Given the description of an element on the screen output the (x, y) to click on. 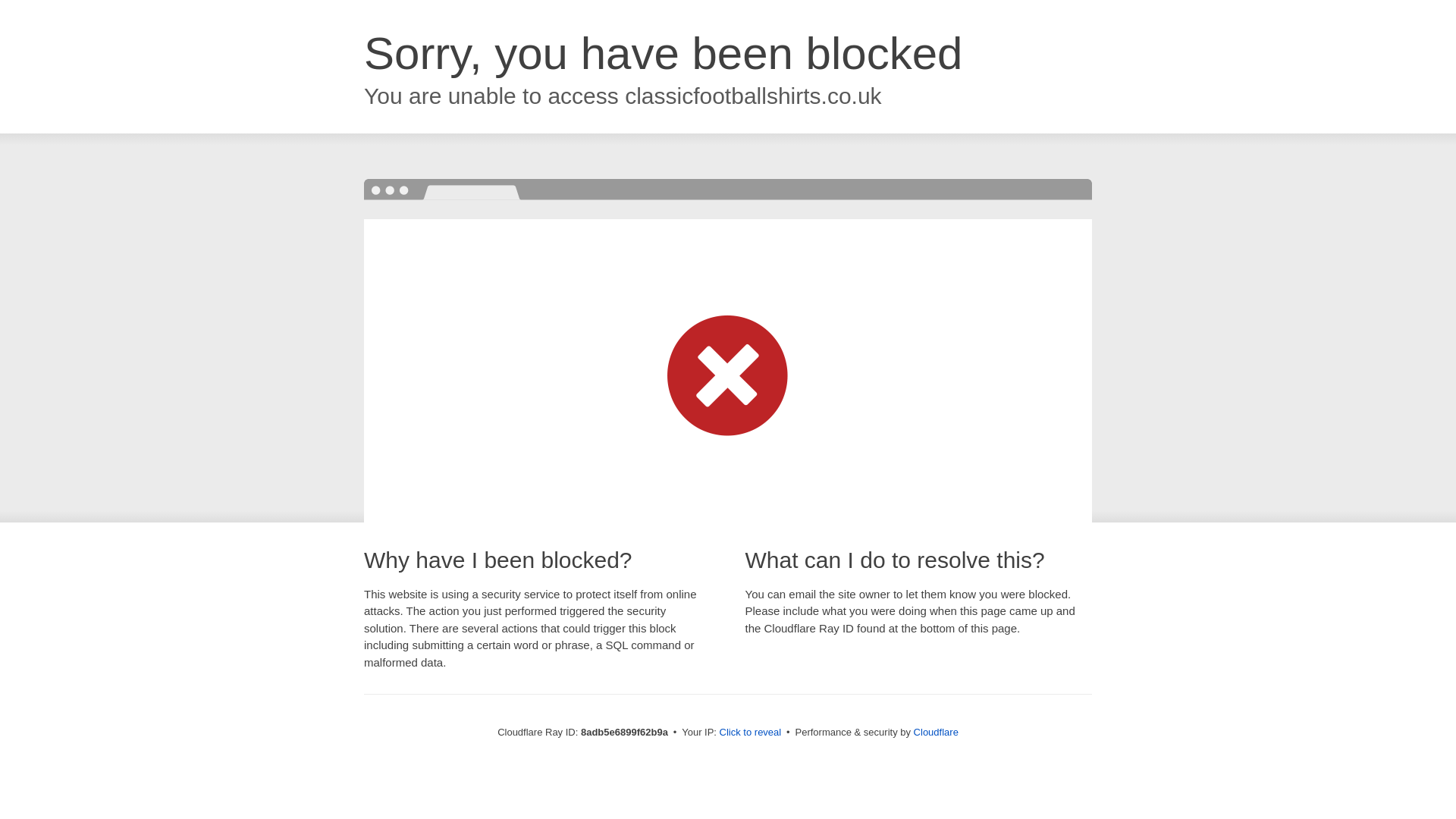
Click to reveal (750, 732)
Cloudflare (936, 731)
